Given the description of an element on the screen output the (x, y) to click on. 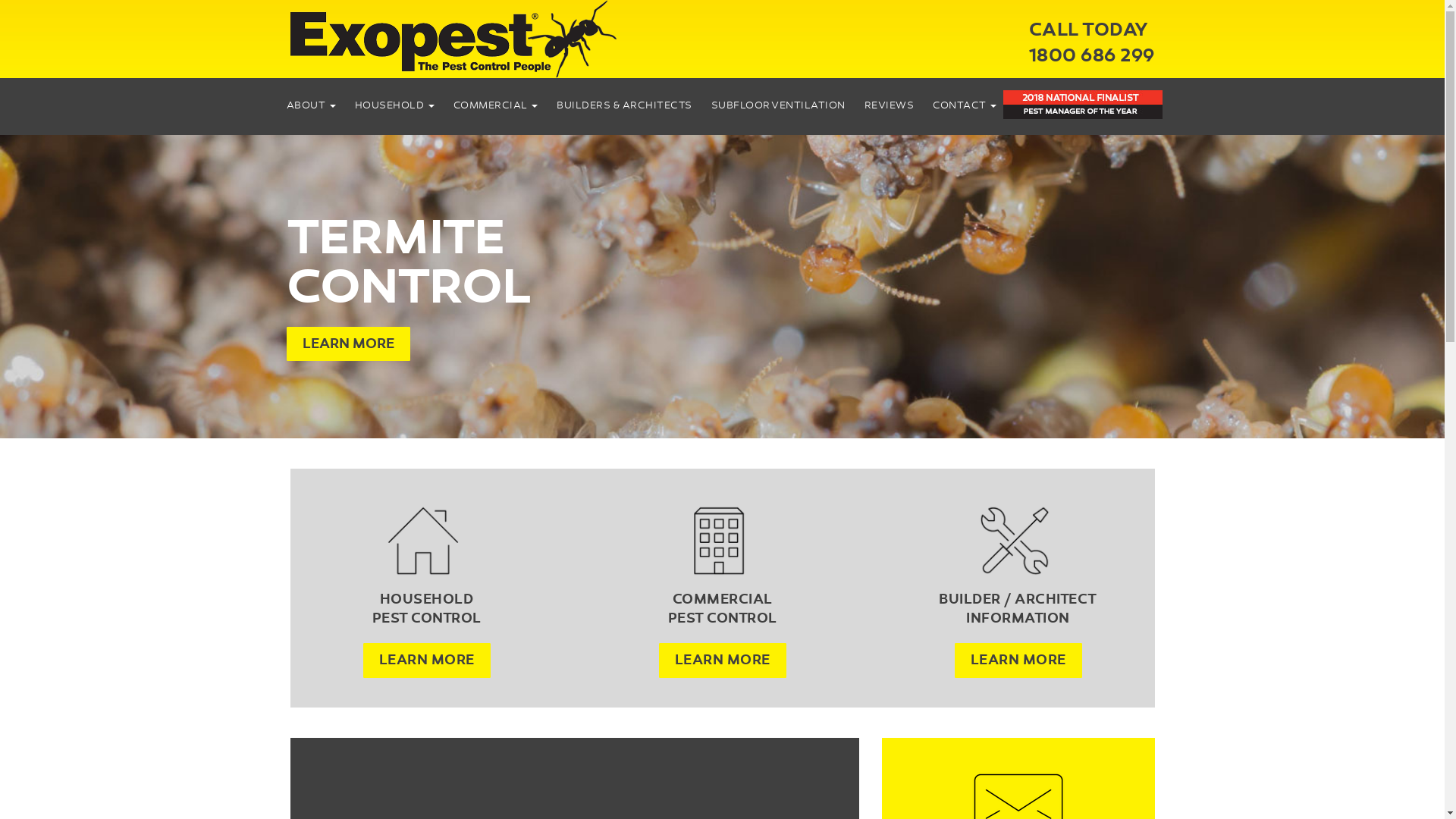
ABOUT Element type: text (311, 105)
HOUSEHOLD Element type: text (394, 105)
LEARN MORE Element type: text (348, 343)
CONTACT Element type: text (964, 105)
REVIEWS Element type: text (889, 105)
LEARN MORE Element type: text (1017, 660)
BUILDERS & ARCHITECTS Element type: text (624, 105)
COMMERCIAL Element type: text (495, 105)
SUBFLOOR VENTILATION Element type: text (778, 105)
LEARN MORE Element type: text (425, 660)
LEARN MORE Element type: text (721, 660)
